Given the description of an element on the screen output the (x, y) to click on. 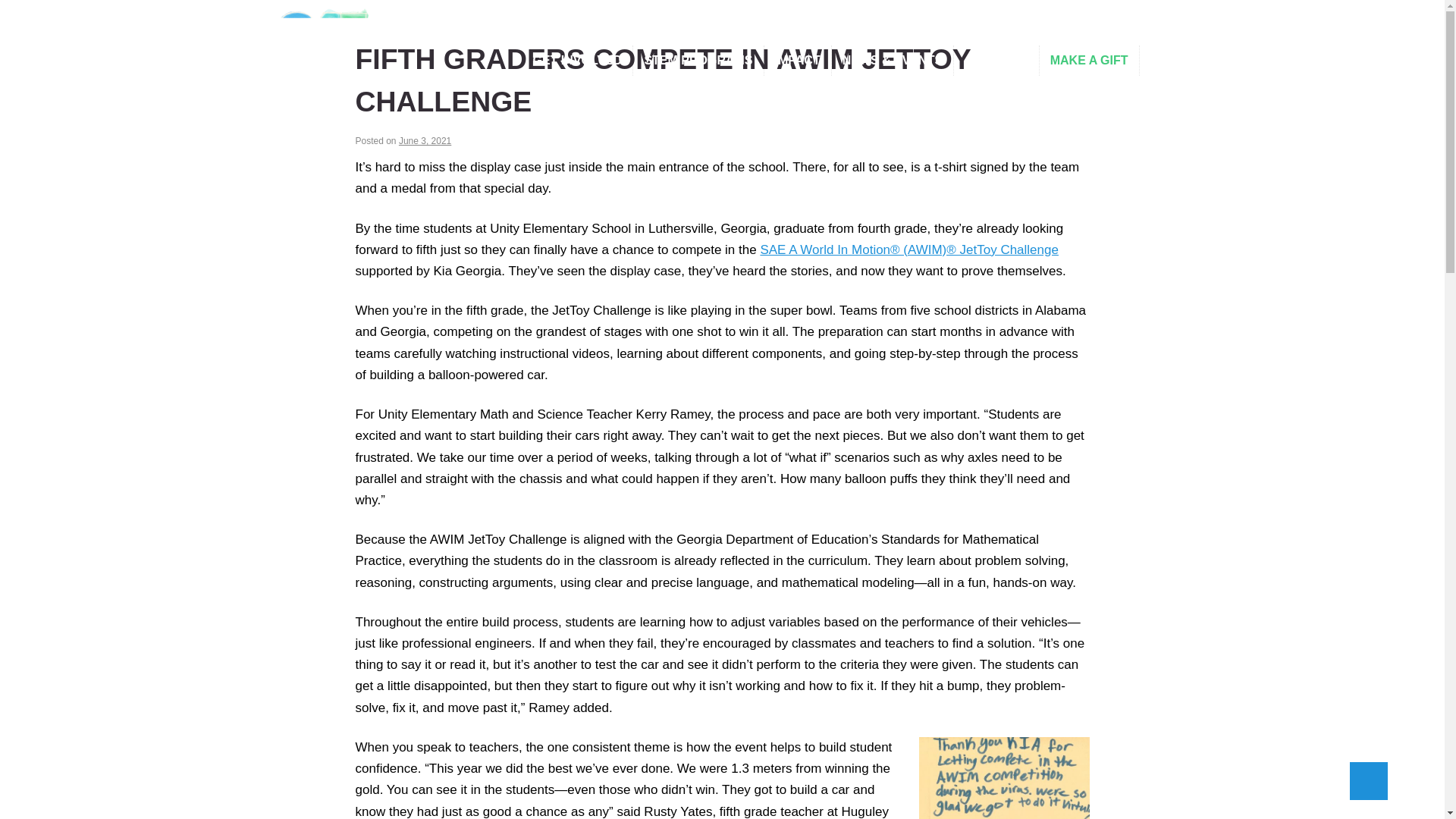
8:17 am (424, 140)
June 3, 2021 (424, 140)
Return to the top of this page. (1368, 781)
Search (1153, 60)
ABOUT US (996, 60)
IMPACT (797, 60)
GET INVOLVED (577, 60)
Donor Login (1134, 14)
Go to SAE Foundation Home Page (323, 41)
STEM PROGRAMS (697, 60)
